Given the description of an element on the screen output the (x, y) to click on. 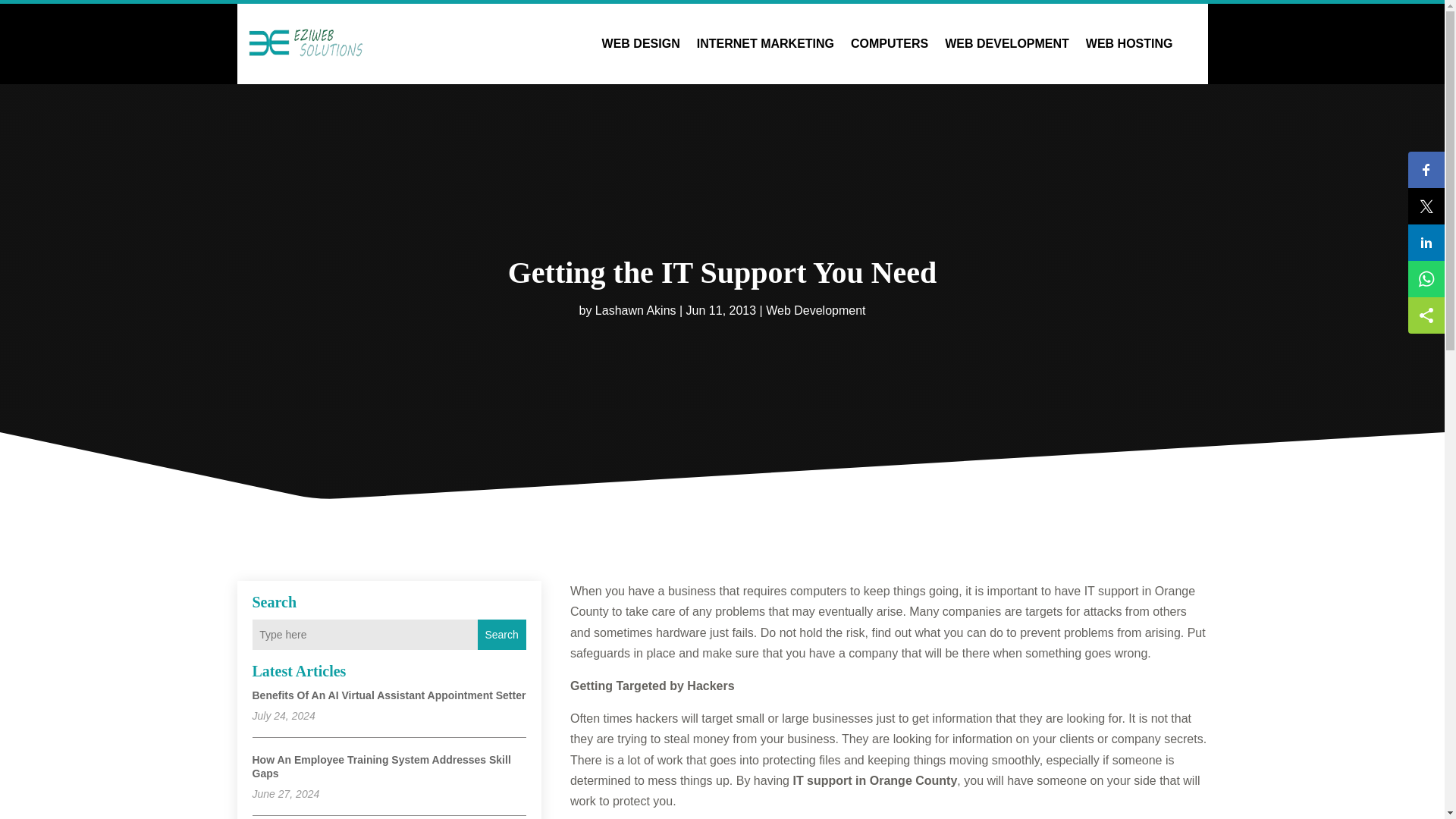
Benefits Of An AI Virtual Assistant Appointment Setter (388, 695)
WEB DEVELOPMENT (1006, 43)
How An Employee Training System Addresses Skill Gaps (381, 766)
COMPUTERS (889, 43)
Web Development (814, 309)
Posts by Lashawn Akins (636, 309)
Lashawn Akins (636, 309)
WEB HOSTING (1129, 43)
WEB DESIGN (640, 43)
INTERNET MARKETING (765, 43)
Search (501, 634)
